Given the description of an element on the screen output the (x, y) to click on. 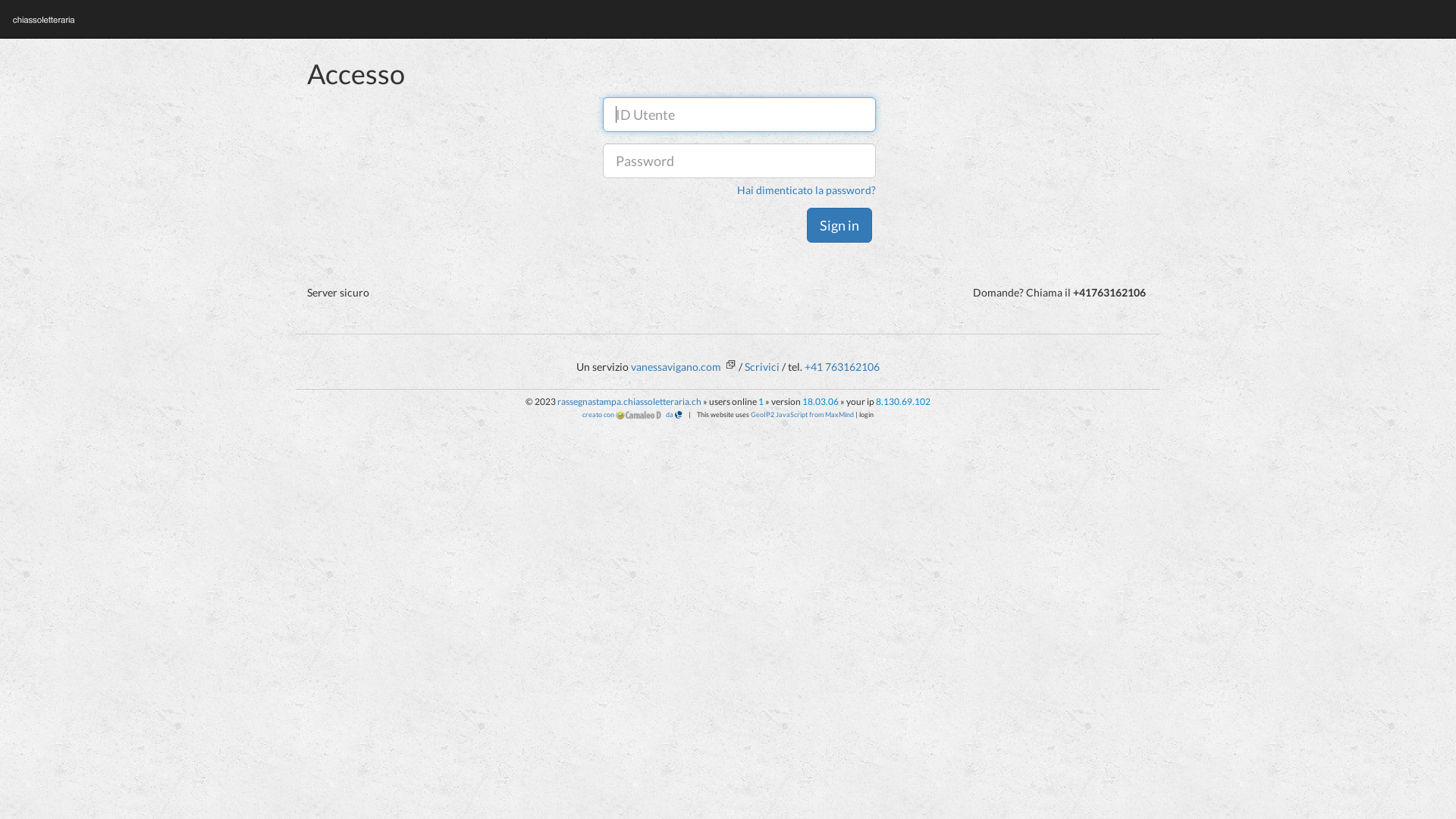
+41 763162106 Element type: text (841, 366)
Hai dimenticato la password? Element type: text (806, 190)
Sign in Element type: text (839, 224)
rassegnastampa.chiassoletteraria.ch Element type: text (629, 400)
vanessavigano.com Element type: text (683, 366)
creato con Element type: text (621, 414)
Scrivici Element type: text (761, 366)
GeoIP2 JavaScript from MaxMind Element type: text (801, 414)
da Element type: text (671, 414)
